Given the description of an element on the screen output the (x, y) to click on. 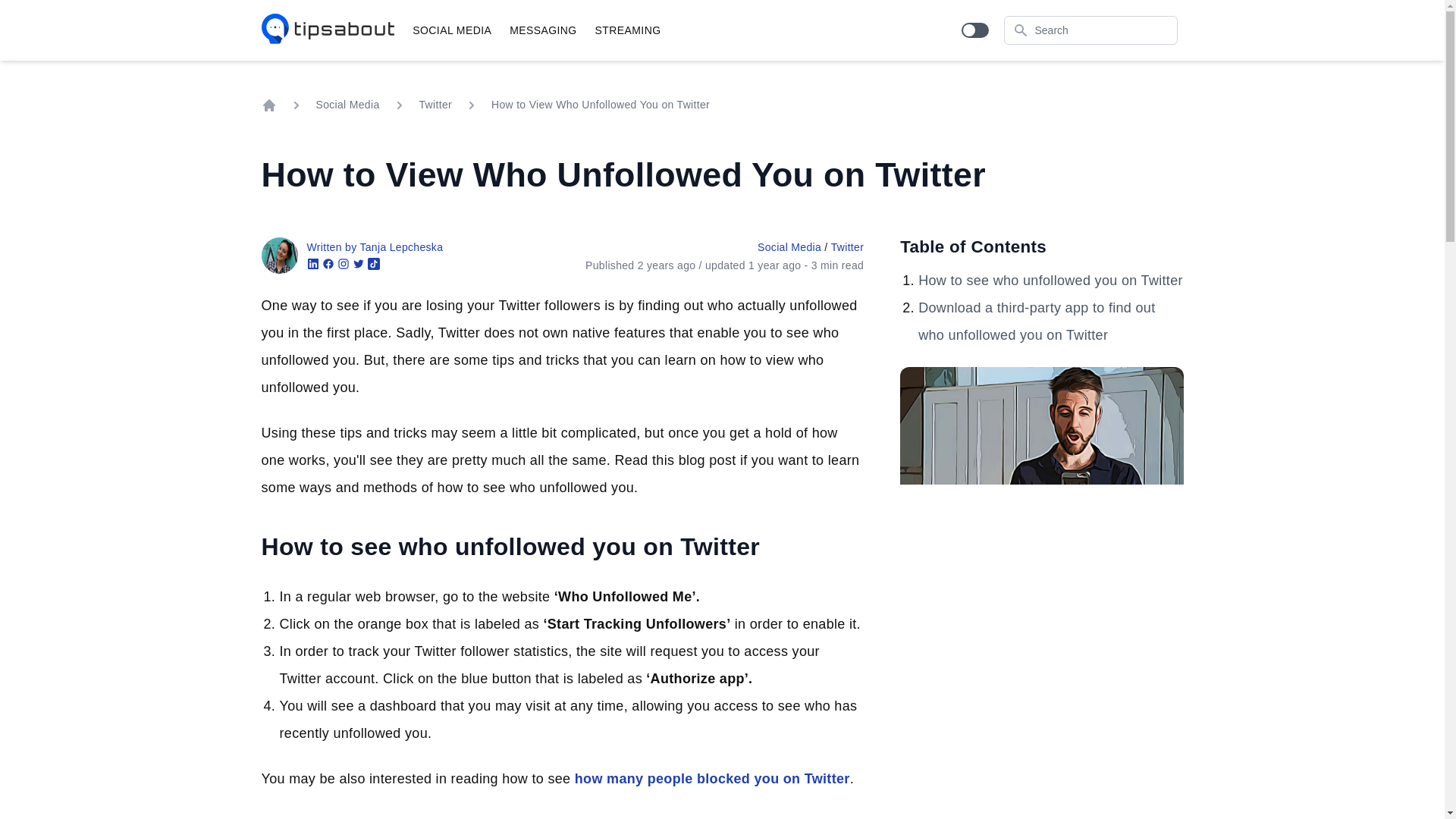
Social Media (451, 30)
Tanja Lepcheska (278, 255)
Messaging (542, 30)
Streaming (627, 30)
Toggle darkmode (974, 29)
How to see who unfollowed you on Twitter (1050, 280)
Home (327, 30)
Home (268, 104)
Social Media (346, 105)
